Given the description of an element on the screen output the (x, y) to click on. 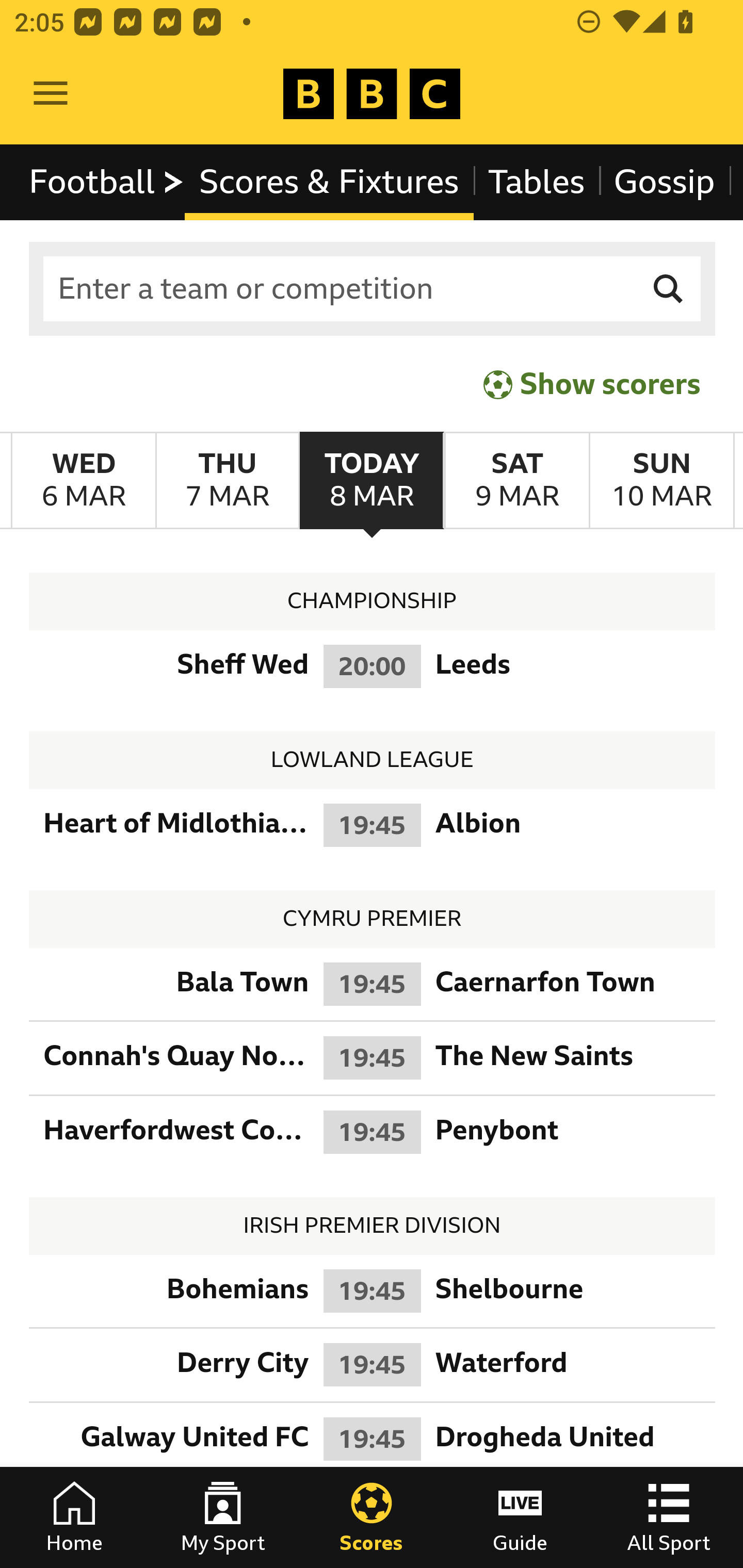
Open Menu (50, 93)
Football  (106, 181)
Scores & Fixtures (329, 181)
Tables (536, 181)
Gossip (664, 181)
Search (669, 289)
Show scorers (591, 383)
WednesdayMarch 6th Wednesday March 6th (83, 480)
ThursdayMarch 7th Thursday March 7th (227, 480)
SaturdayMarch 9th Saturday March 9th (516, 480)
SundayMarch 10th Sunday March 10th (661, 480)
Home (74, 1517)
My Sport (222, 1517)
Guide (519, 1517)
All Sport (668, 1517)
